Given the description of an element on the screen output the (x, y) to click on. 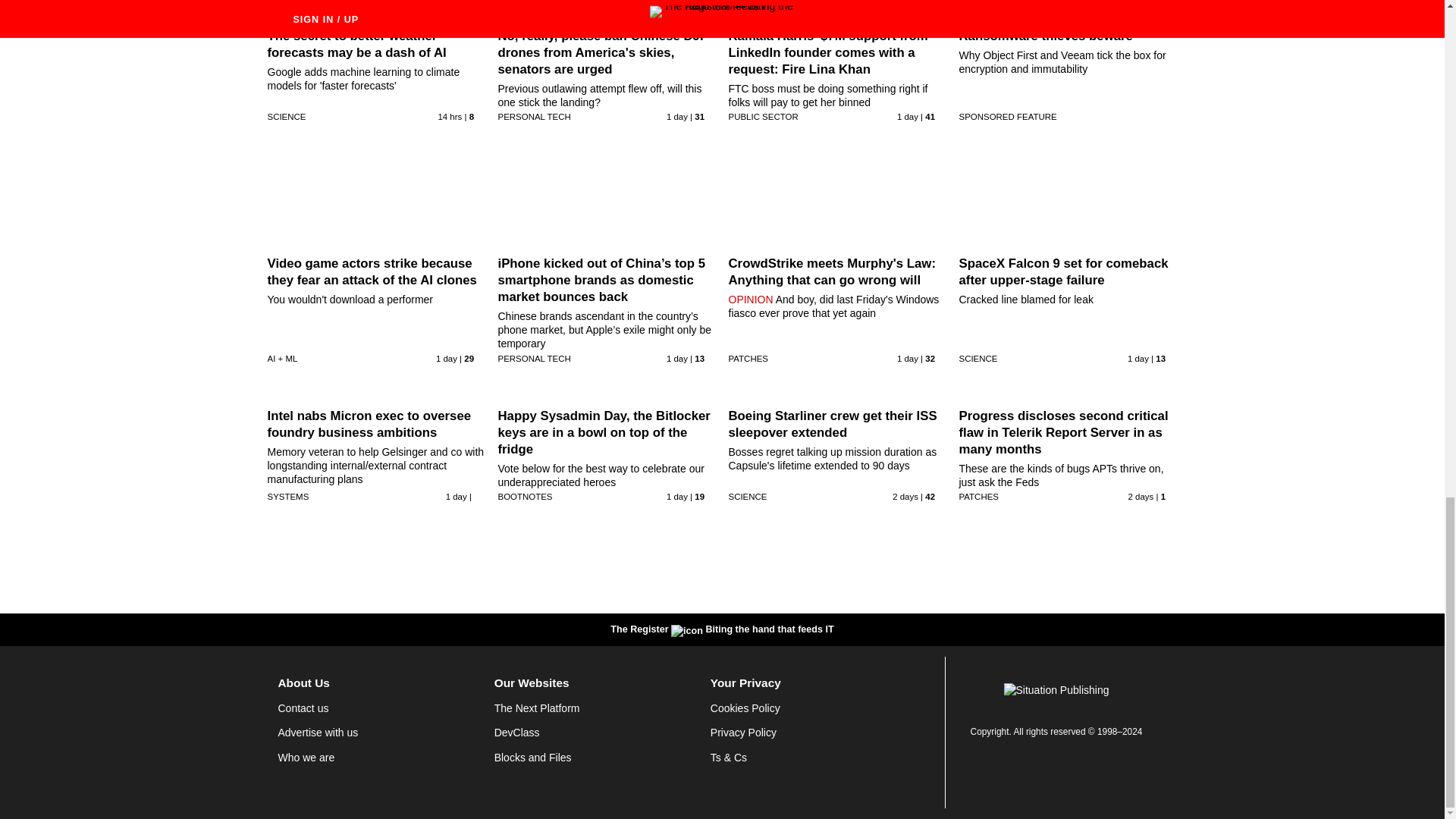
26 Jul 2024 19:26 (676, 358)
27 Jul 2024 13:27 (449, 116)
26 Jul 2024 17:38 (1137, 358)
26 Jul 2024 20:24 (446, 358)
26 Jul 2024 15:33 (676, 496)
26 Jul 2024 18:36 (907, 358)
26 Jul 2024 16:29 (456, 496)
26 Jul 2024 21:14 (907, 116)
26 Jul 2024 21:58 (676, 116)
